Given the description of an element on the screen output the (x, y) to click on. 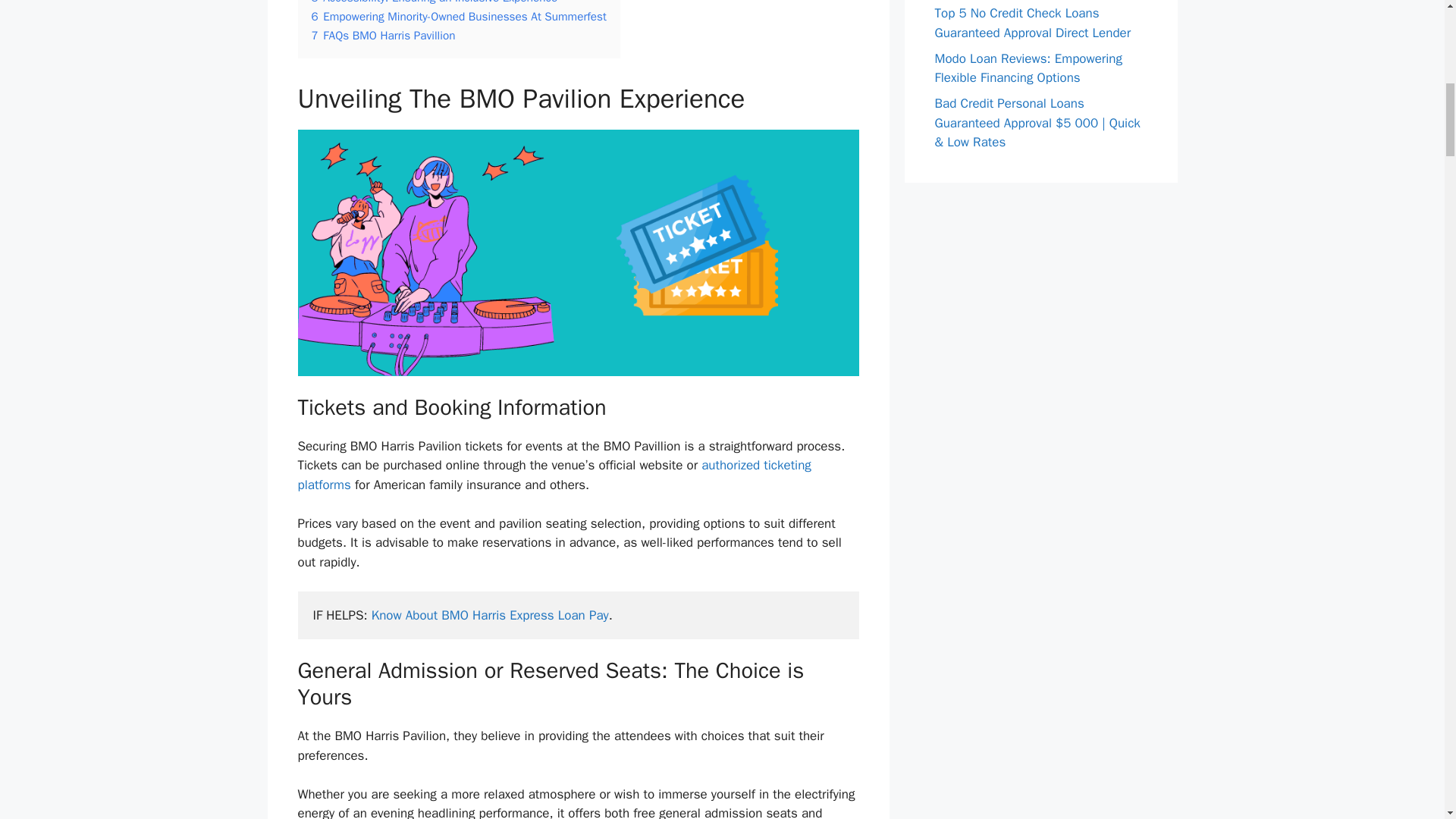
5 Accessibility: Ensuring an Inclusive Experience (434, 2)
authorized ticketing platforms (553, 475)
Know About BMO Harris Express Loan Pay (489, 615)
7 FAQs BMO Harris Pavillion (382, 35)
6 Empowering Minority-Owned Businesses At Summerfest (458, 16)
Scroll back to top (1406, 720)
